Given the description of an element on the screen output the (x, y) to click on. 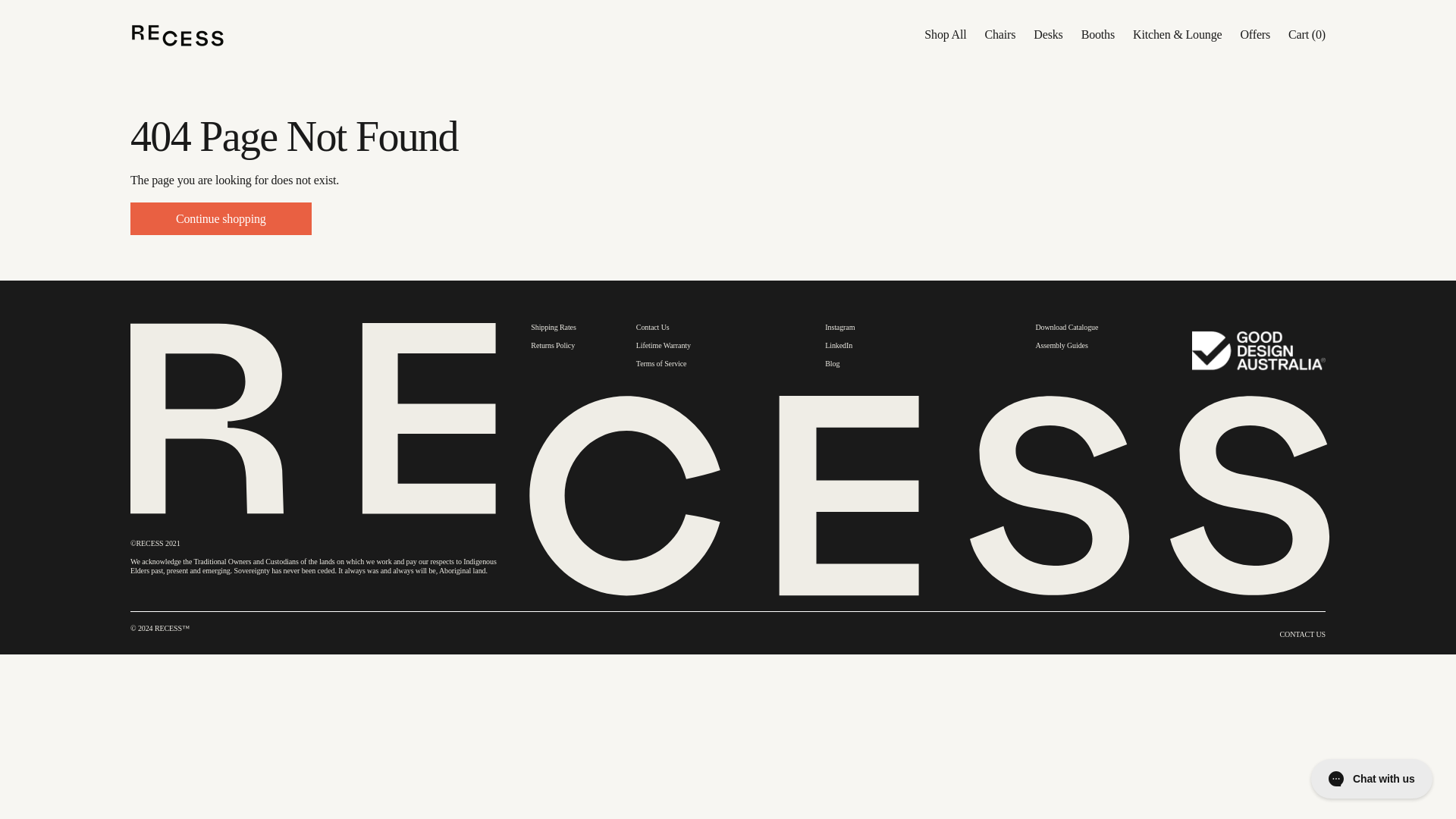
Desks (1047, 34)
Booths (1098, 34)
Shop All (945, 34)
Gorgias live chat messenger (1372, 778)
Chairs (999, 34)
Offers (1254, 34)
